Given the description of an element on the screen output the (x, y) to click on. 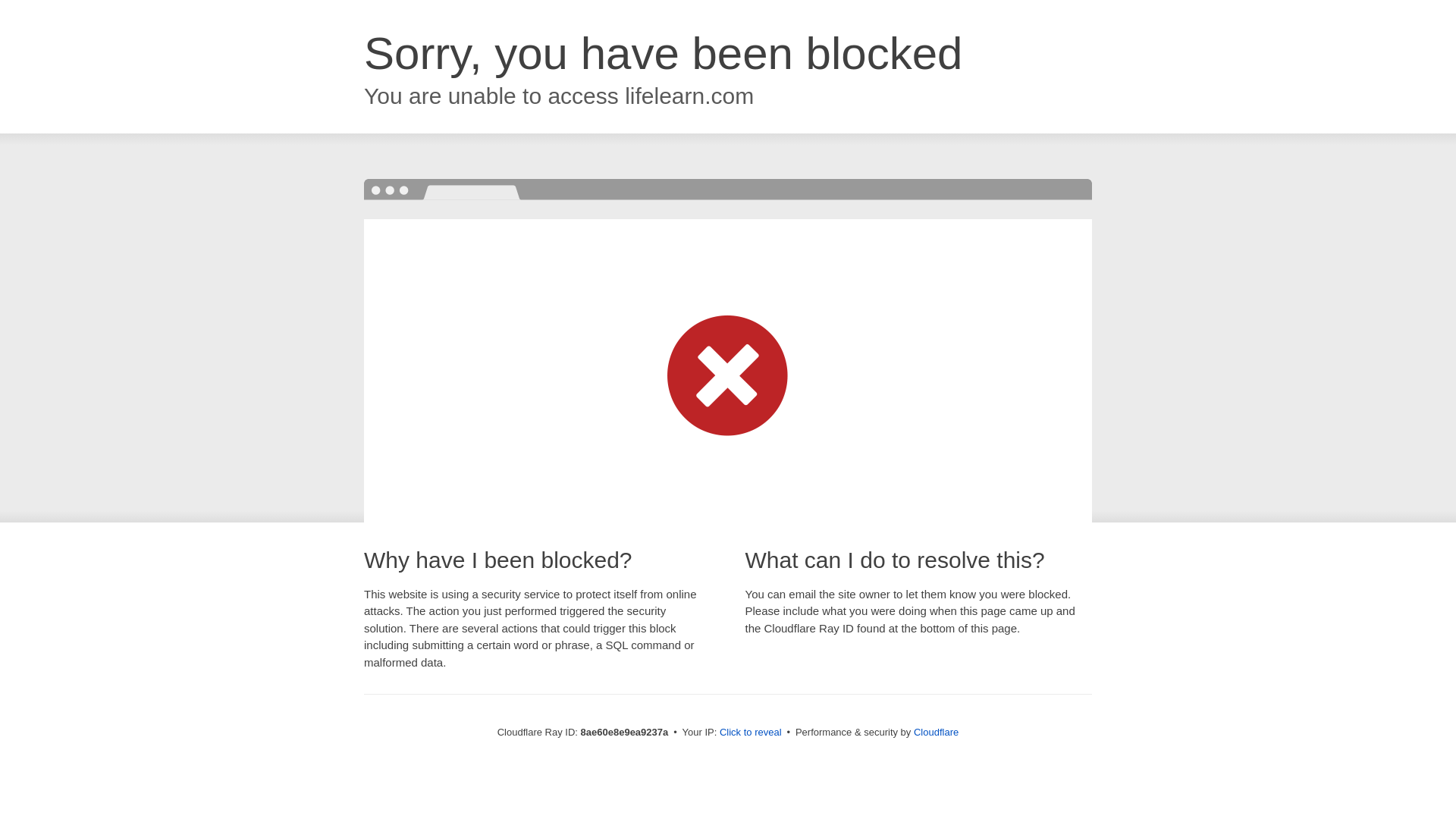
Cloudflare (936, 731)
Click to reveal (750, 732)
